Given the description of an element on the screen output the (x, y) to click on. 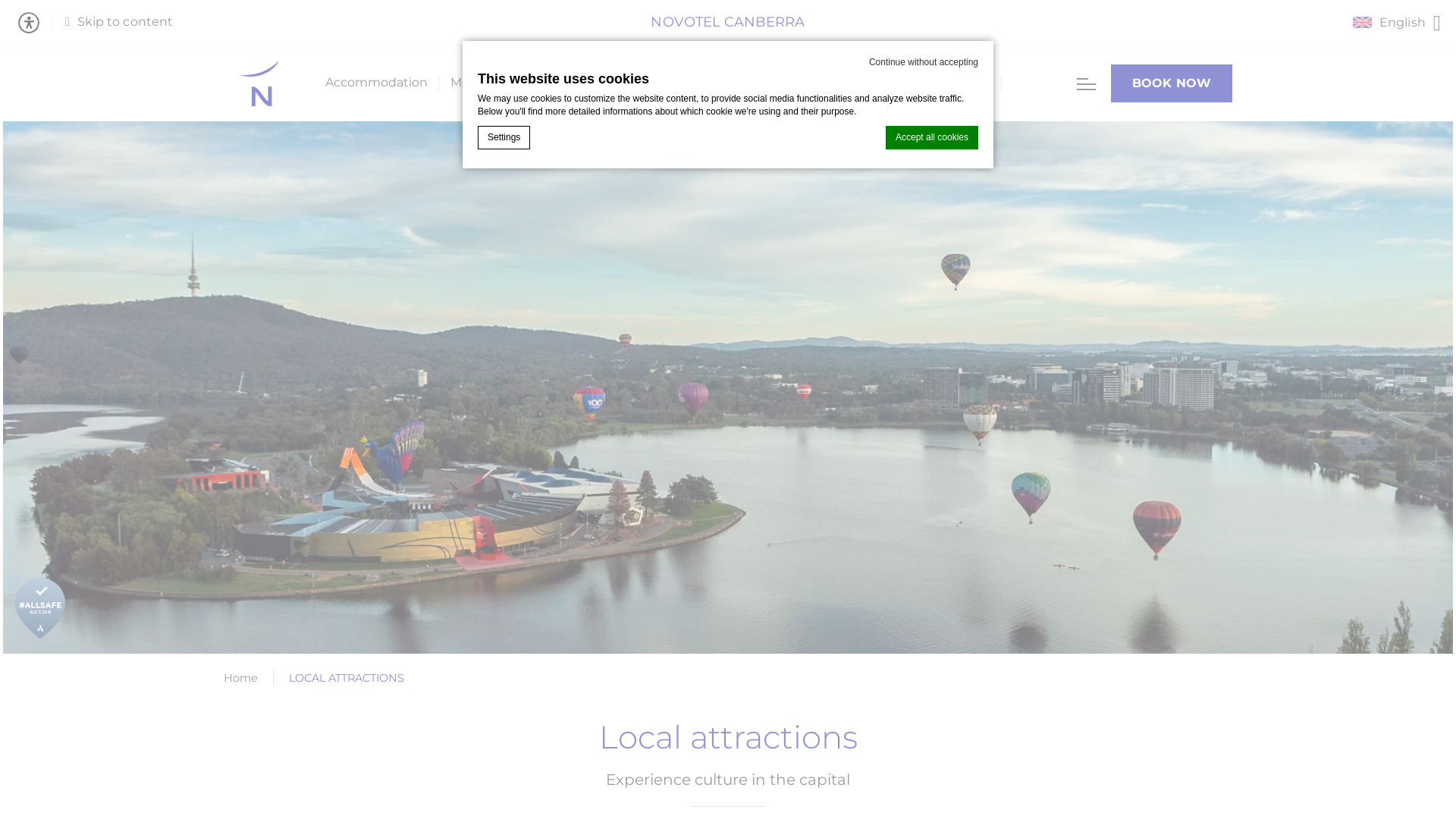
Meetings & Events Element type: text (504, 83)
English Element type: text (1390, 22)
Location Element type: text (873, 83)
Contact Us Element type: text (956, 83)
BOOK NOW Element type: text (1171, 83)
Back to home page Element type: hover (258, 83)
NOVOTEL CANBERRA Element type: text (724, 22)
First Edition Canberra Element type: text (758, 83)
Accessibility Options Element type: hover (34, 22)
LOCAL ATTRACTIONS Element type: text (346, 678)
Open main navigation menu Element type: hover (1085, 83)
Home Element type: text (240, 678)
Skip to content Element type: text (118, 22)
Accommodation Element type: text (373, 83)
Special Offers Element type: text (628, 83)
ALLSAFE approved hotel Element type: hover (40, 607)
